Given the description of an element on the screen output the (x, y) to click on. 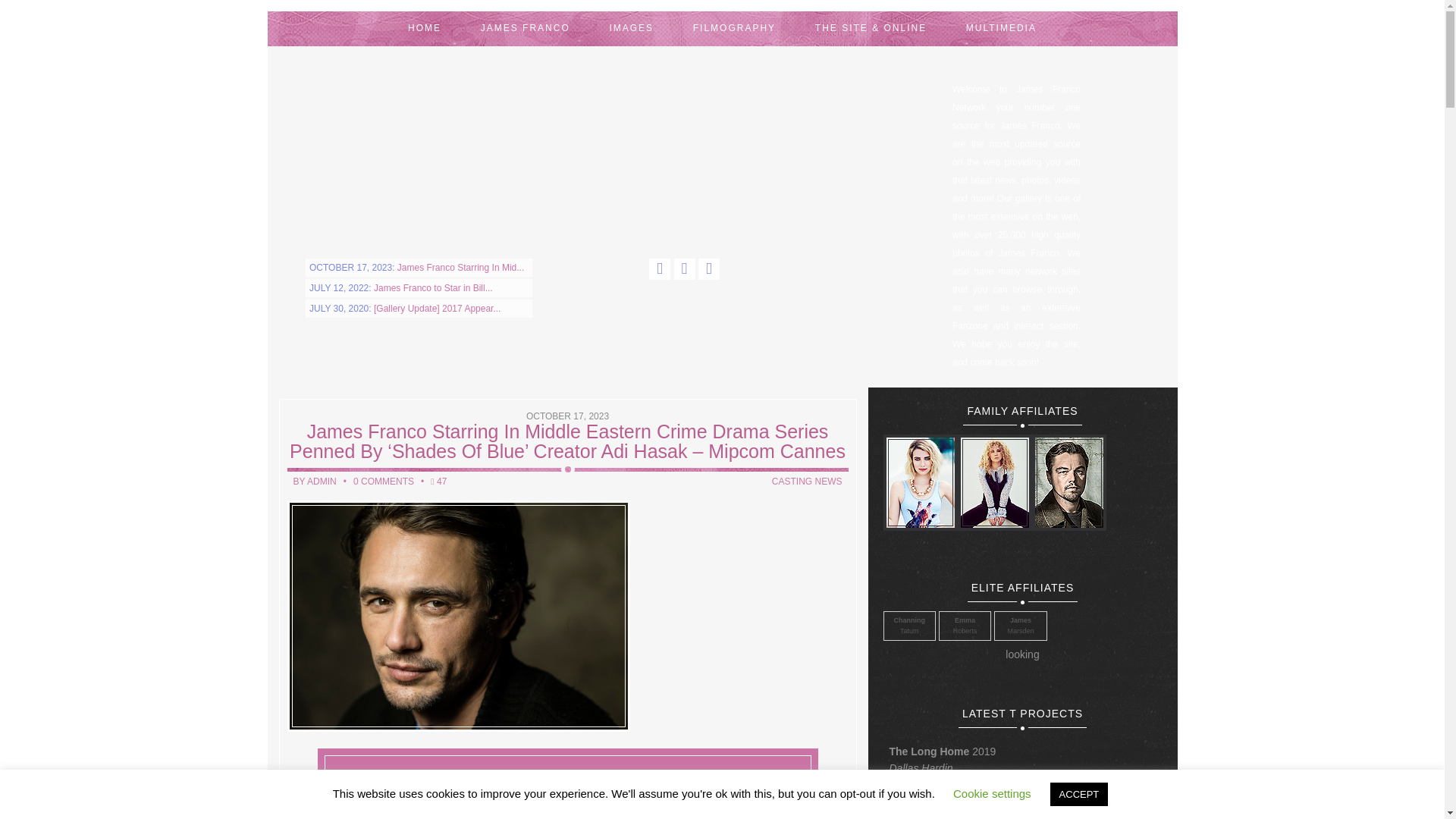
JAMES FRANCO (525, 28)
IMAGES (631, 28)
 47  (439, 480)
James Franco Starring In Mid... (460, 267)
James Franco to Star in Bill... (433, 287)
CASTING NEWS (807, 480)
MULTIMEDIA (1000, 28)
FILMOGRAPHY (734, 28)
HOME (425, 28)
0 COMMENTS (383, 480)
